Given the description of an element on the screen output the (x, y) to click on. 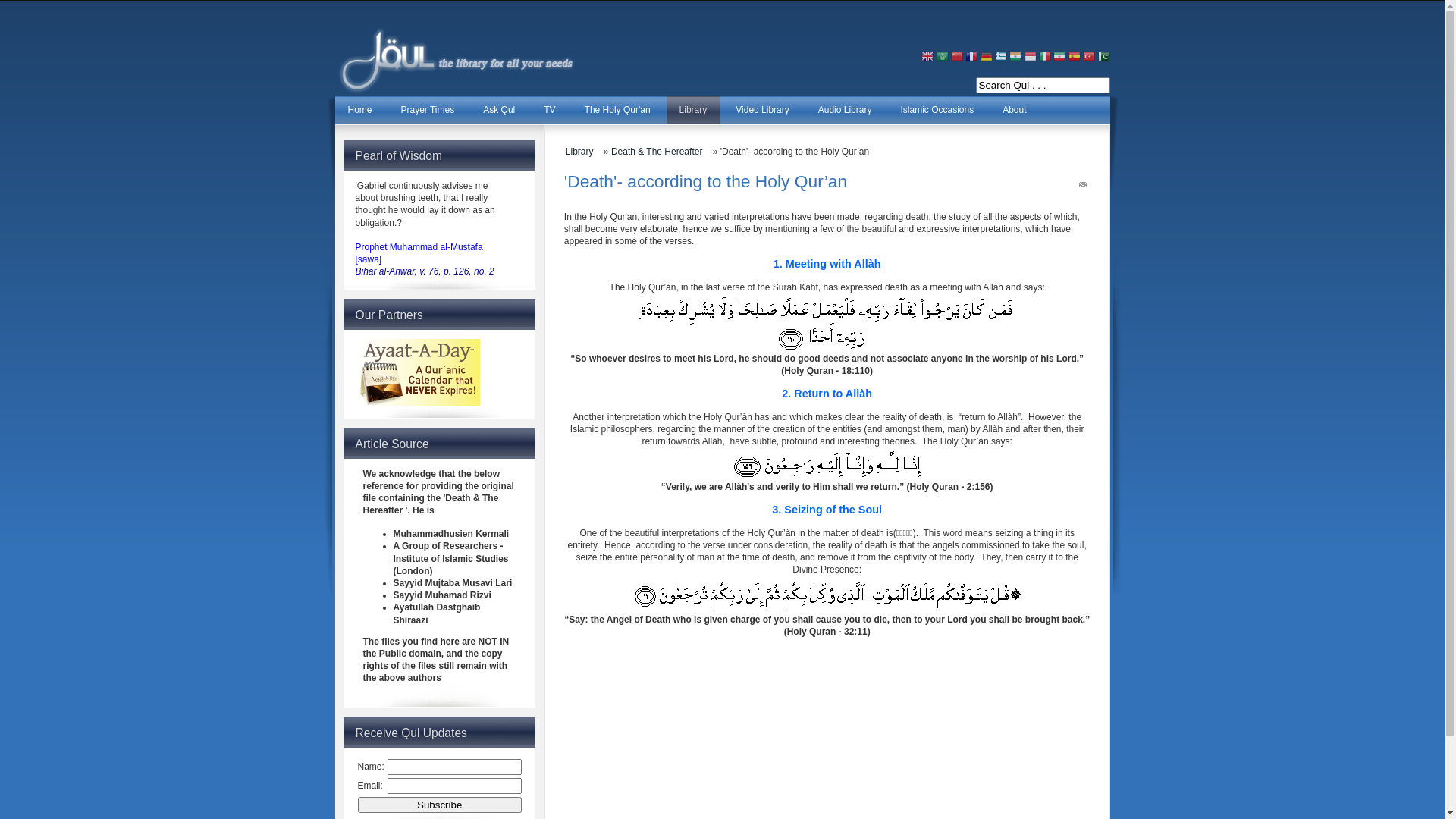
About Element type: text (1013, 109)
TV Element type: text (548, 109)
The Holy Qur'an Element type: text (617, 109)
Death & The Hereafter Element type: text (660, 151)
Library Element type: text (583, 151)
Audio Library Element type: text (844, 109)
Indonesian Element type: hover (1030, 57)
Turkish Element type: hover (1088, 57)
Video Library Element type: text (762, 109)
Subscribe Element type: text (439, 804)
Arabic Element type: hover (942, 57)
French Element type: hover (971, 57)
Greek Element type: hover (1000, 57)
Italian Element type: hover (1044, 57)
Urdu Element type: hover (1104, 57)
Home Element type: text (360, 109)
Islamic Occasions Element type: text (936, 109)
German Element type: hover (986, 57)
Prayer Times Element type: text (427, 109)
Persian Element type: hover (1059, 57)
Spanish Element type: hover (1074, 57)
Hindi Element type: hover (1015, 57)
English Element type: hover (927, 57)
Chinese (Simplified) Element type: hover (956, 57)
Ask Qul Element type: text (498, 109)
E-mail Element type: hover (1082, 187)
Library Element type: text (693, 109)
